Given the description of an element on the screen output the (x, y) to click on. 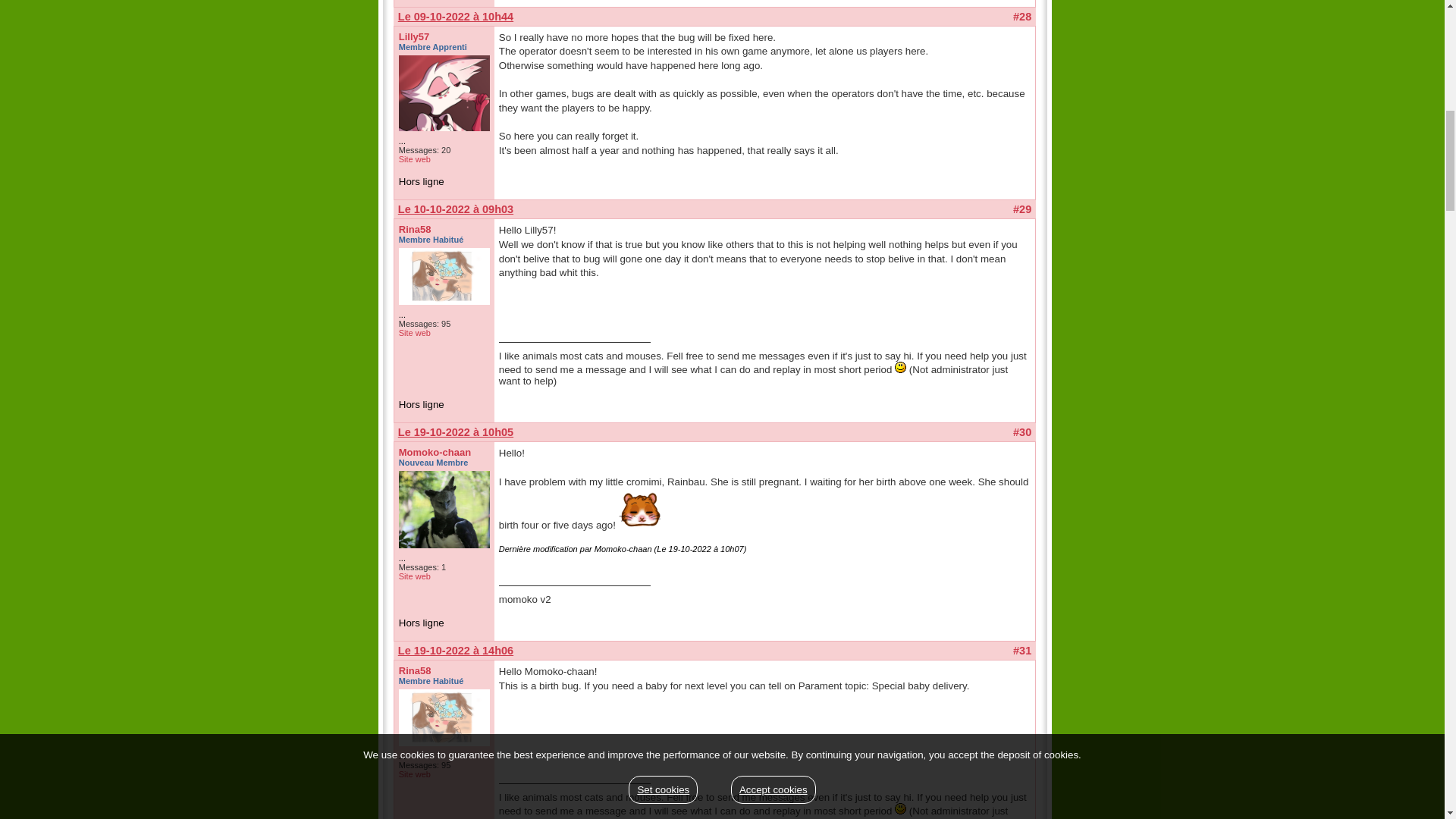
Site web (414, 158)
Momoko-chaan (434, 451)
Rina58 (414, 229)
Lilly57 (413, 36)
Rina58 (414, 670)
Site web (414, 332)
Site web (414, 575)
Site web (414, 773)
